Given the description of an element on the screen output the (x, y) to click on. 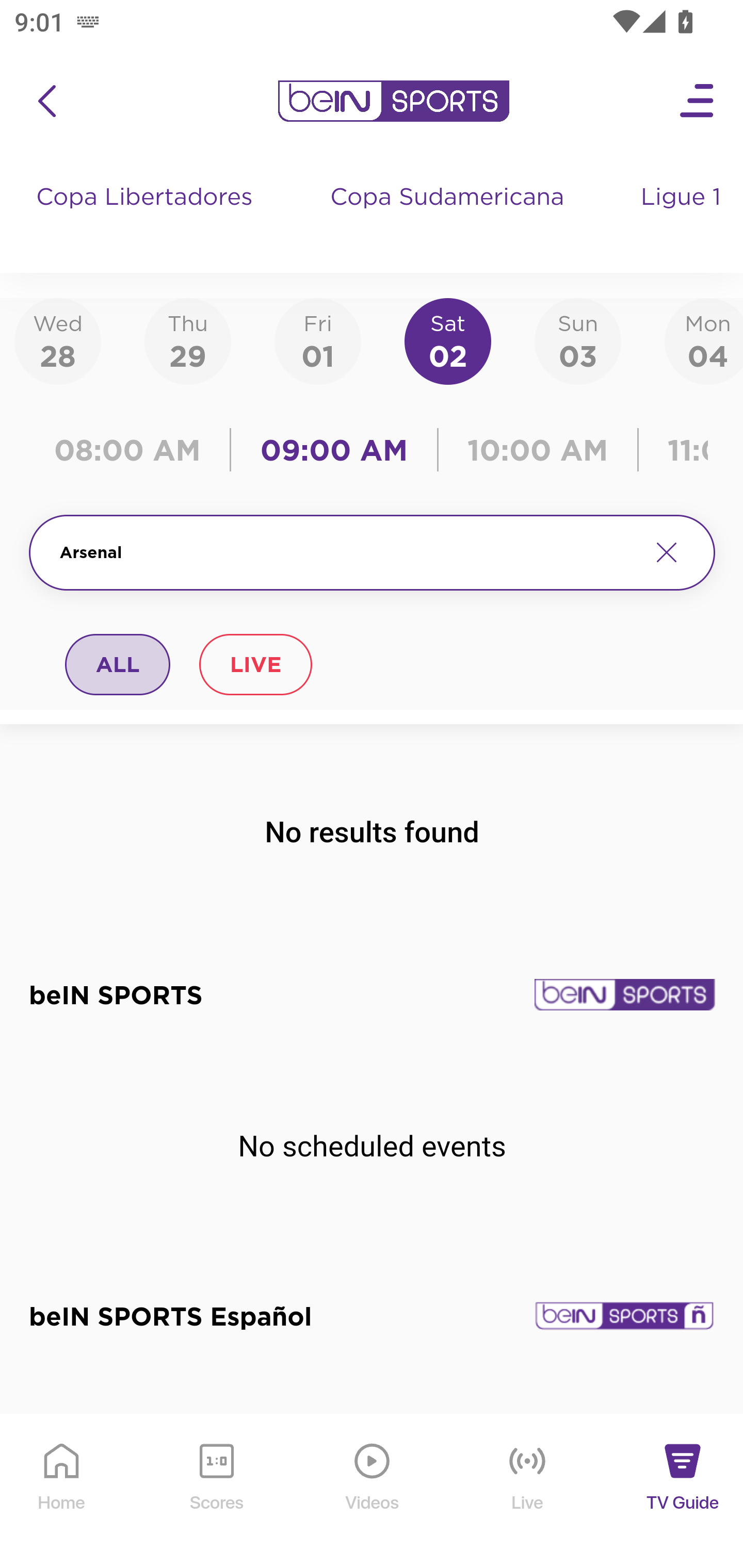
en-us?platform=mobile_android bein logo (392, 101)
icon back (46, 101)
Open Menu Icon (697, 101)
Copa Libertadores (146, 216)
Copa Sudamericana (448, 216)
Ligue 1 (682, 216)
Wed28 (58, 340)
Thu29 (187, 340)
Fri01 (318, 340)
Sat02 (447, 340)
Sun03 (578, 340)
Mon04 (703, 340)
08:00 AM (134, 449)
09:00 AM (334, 449)
10:00 AM (537, 449)
Arsenal (346, 552)
ALL (118, 663)
LIVE (255, 663)
Home Home Icon Home (61, 1491)
Scores Scores Icon Scores (216, 1491)
Videos Videos Icon Videos (372, 1491)
TV Guide TV Guide Icon TV Guide (682, 1491)
